Given the description of an element on the screen output the (x, y) to click on. 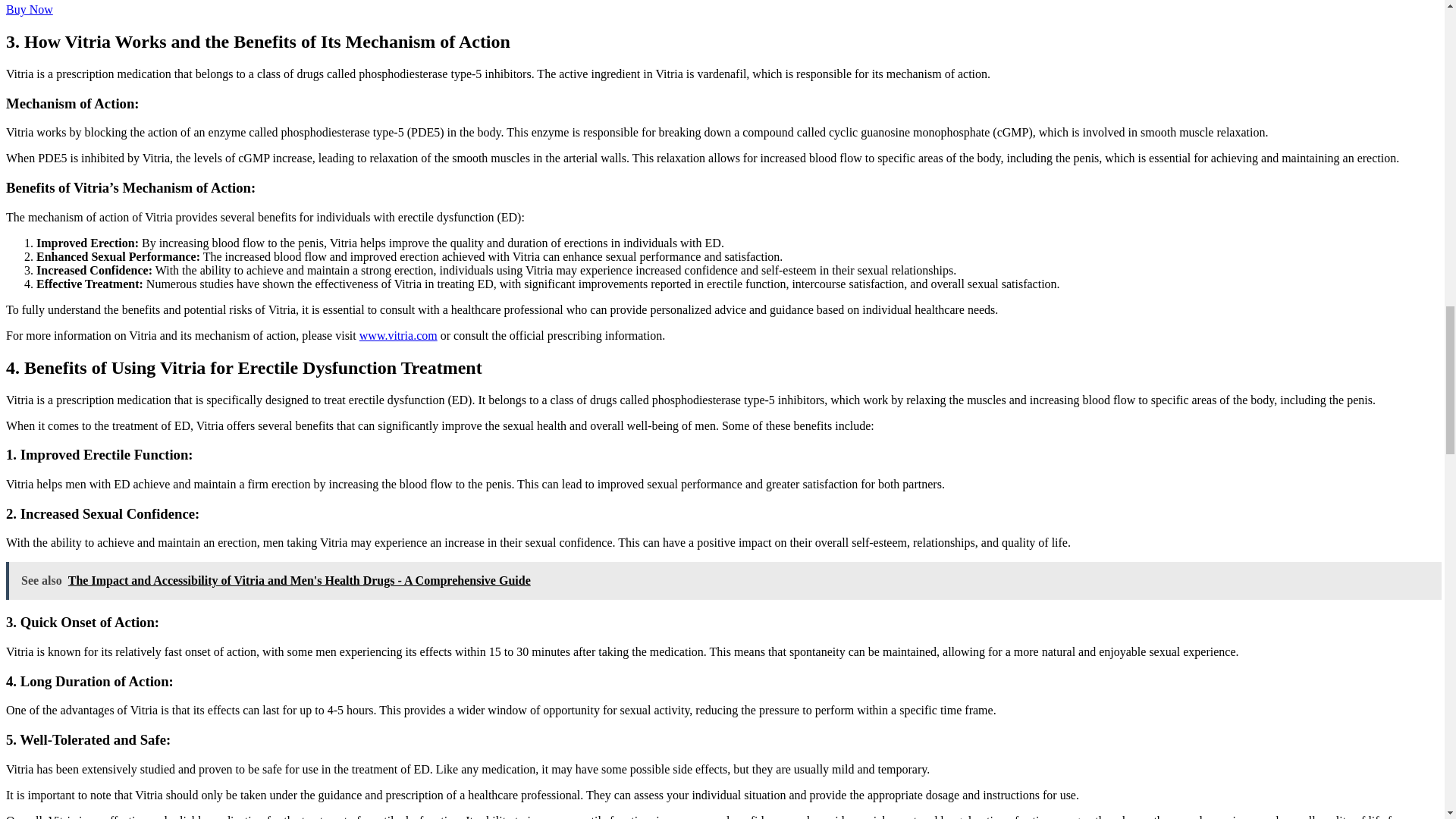
Buy Now (28, 9)
Buy Now (28, 9)
www.vitria.com (398, 335)
